Given the description of an element on the screen output the (x, y) to click on. 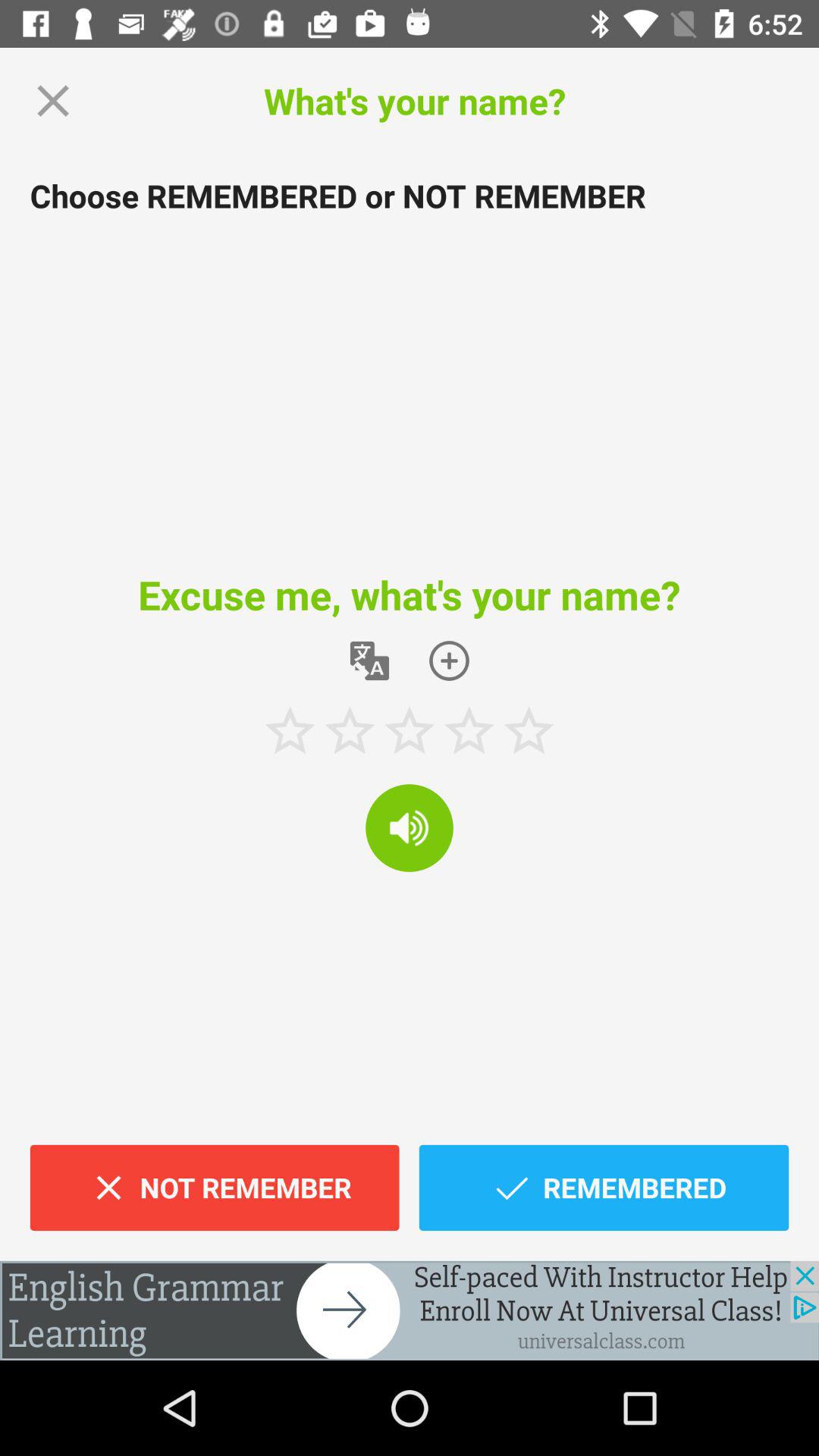
speaker botton (409, 827)
